Given the description of an element on the screen output the (x, y) to click on. 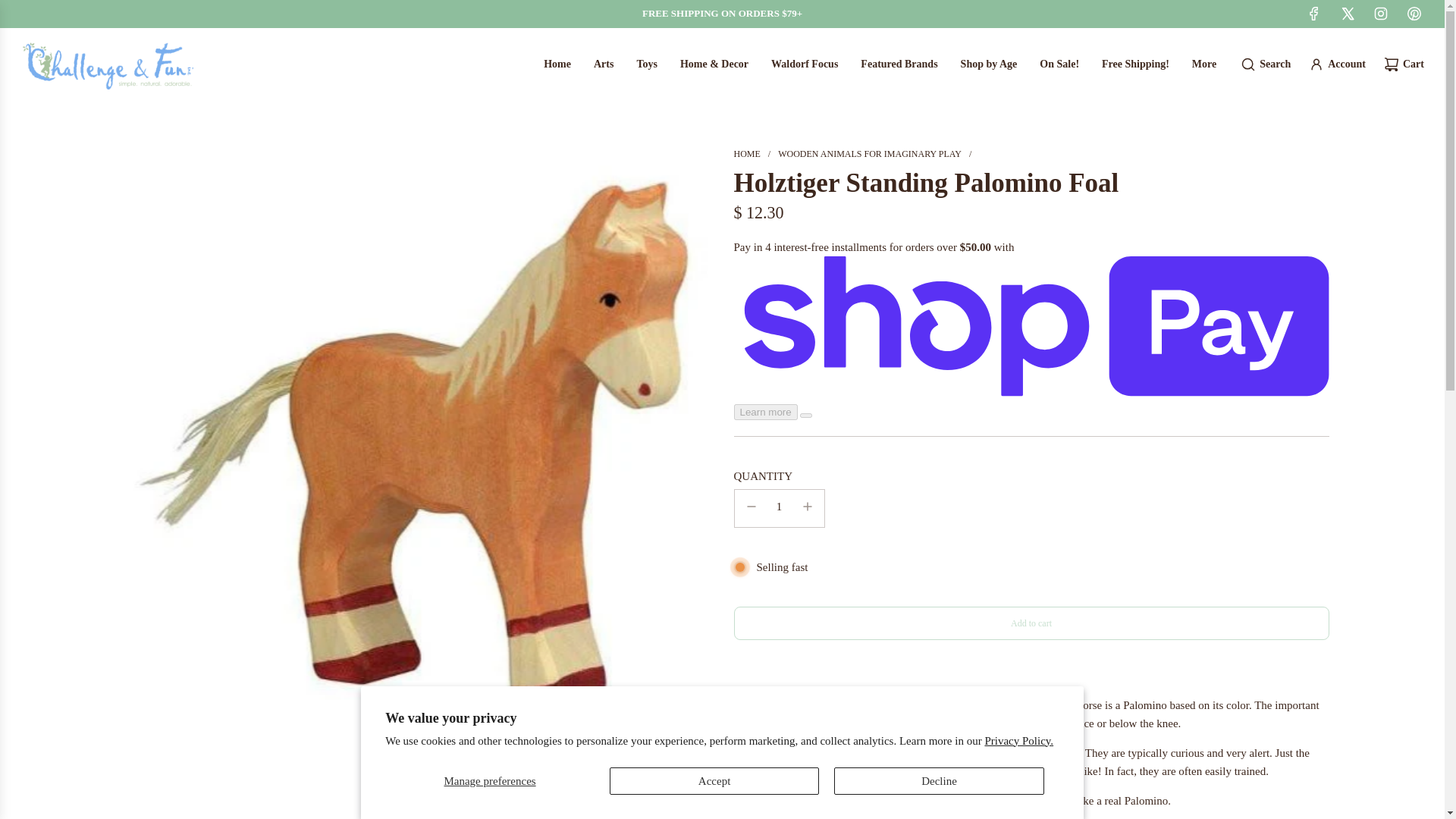
Decline (938, 780)
Back to the frontpage (746, 153)
Accept (714, 780)
Manage preferences (489, 780)
Privacy Policy. (1018, 739)
Wooden Animals for Imaginary Play (868, 153)
